Given the description of an element on the screen output the (x, y) to click on. 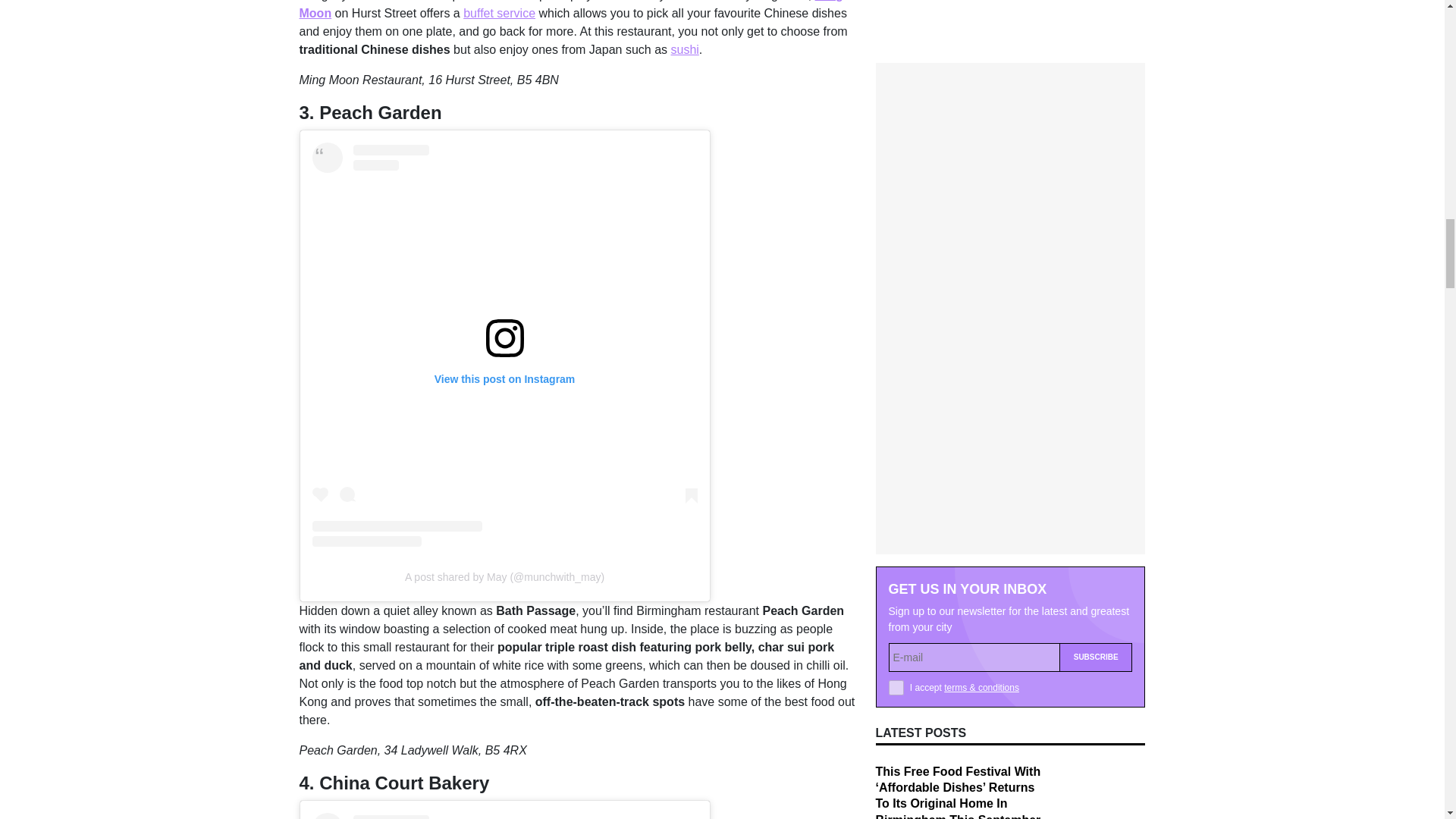
sushi (683, 49)
buffet service (499, 12)
View this post on Instagram (505, 816)
Ming Moon (570, 9)
